Given the description of an element on the screen output the (x, y) to click on. 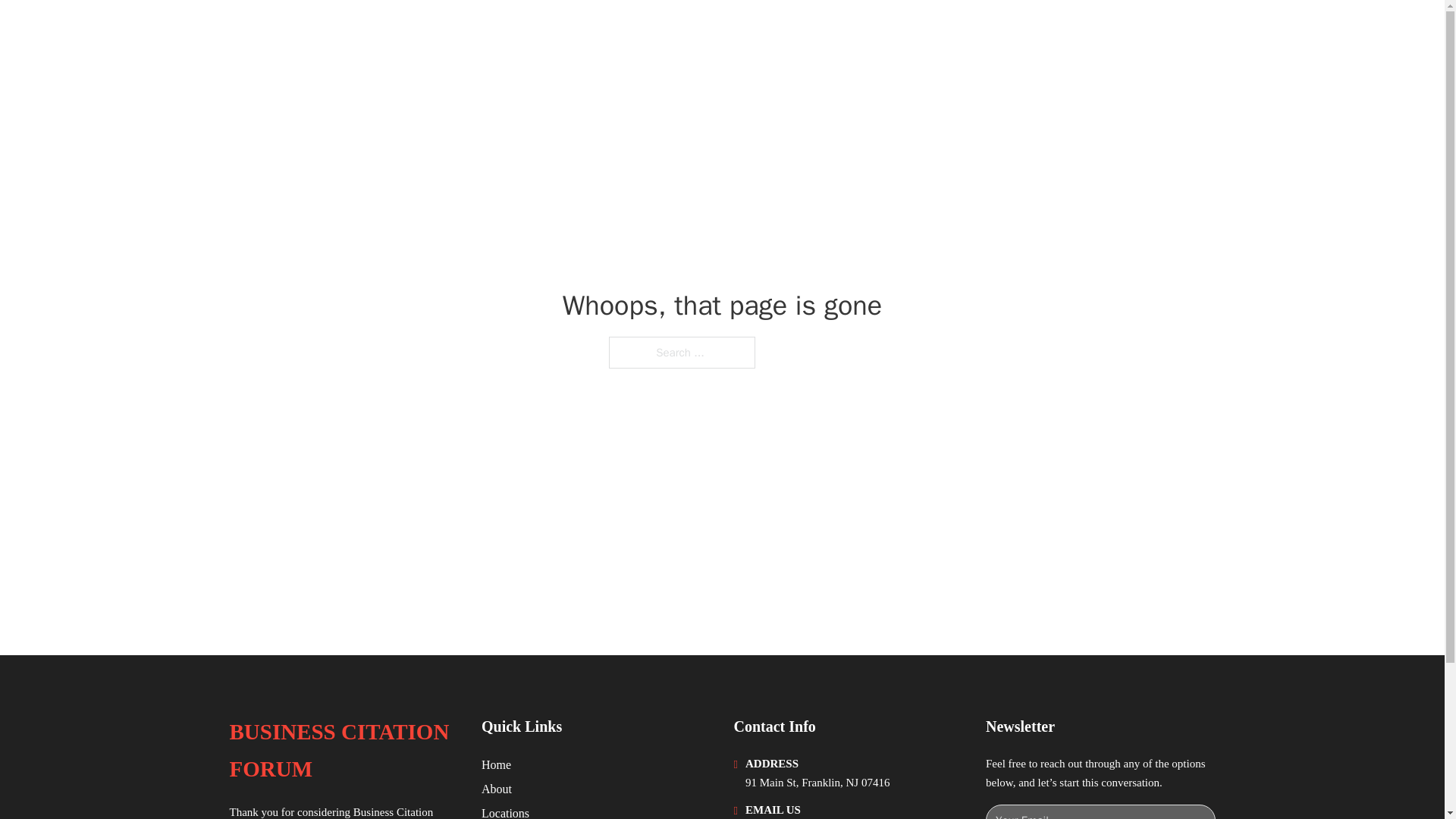
BUSINESS CITATION FORUM (398, 31)
HOME (1025, 31)
BUSINESS CITATION FORUM (343, 750)
About (496, 788)
Home (496, 764)
LOCATIONS (1098, 31)
Locations (505, 811)
